Given the description of an element on the screen output the (x, y) to click on. 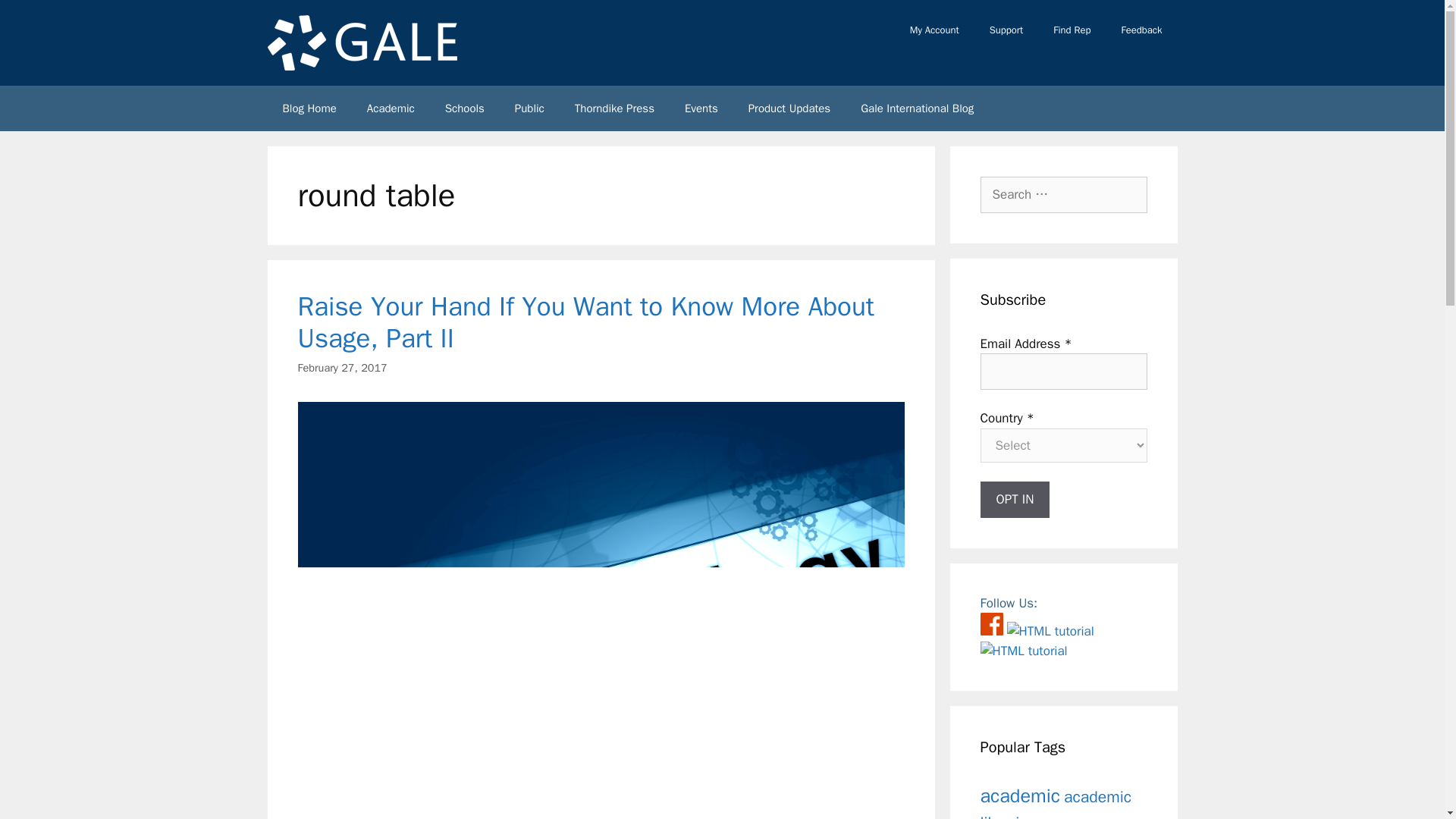
OPT IN (1014, 499)
Search for: (1063, 194)
Academic (390, 108)
Schools (464, 108)
Product Updates (789, 108)
Find Rep (1071, 30)
Gale International Blog (916, 108)
Feedback (1140, 30)
Events (701, 108)
Public (529, 108)
Search (35, 18)
My Account (934, 30)
Blog Home (308, 108)
Support (1006, 30)
